Given the description of an element on the screen output the (x, y) to click on. 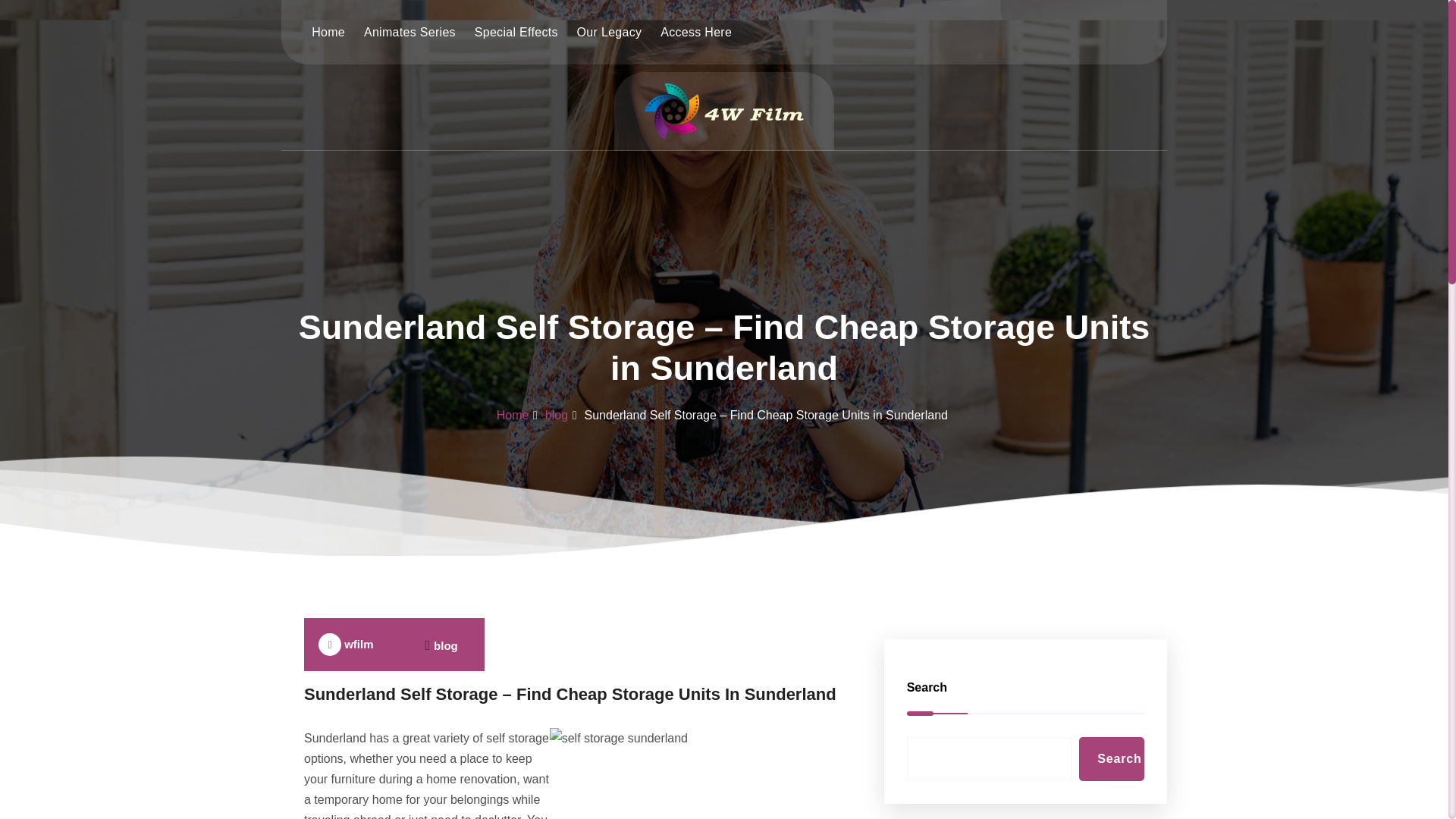
Special Effects (515, 31)
blog (445, 645)
Home (512, 414)
wfilm (345, 644)
Our Legacy (608, 31)
blog (555, 414)
Home (327, 31)
Search (1111, 759)
Animates Series (409, 31)
Access Here (695, 31)
